Given the description of an element on the screen output the (x, y) to click on. 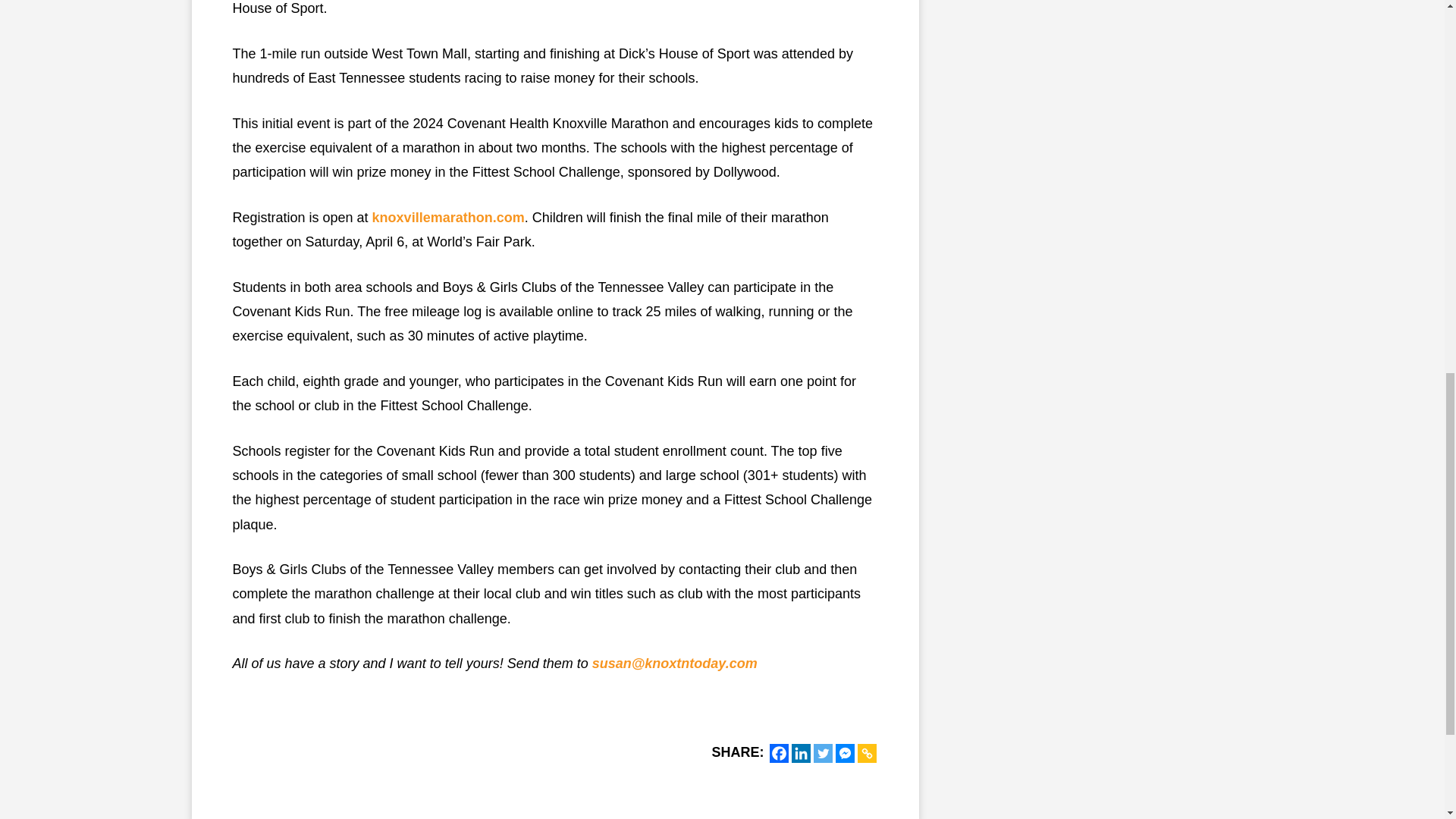
Copy Link (866, 752)
Twitter (821, 752)
Facebook (777, 752)
Linkedin (801, 752)
